Given the description of an element on the screen output the (x, y) to click on. 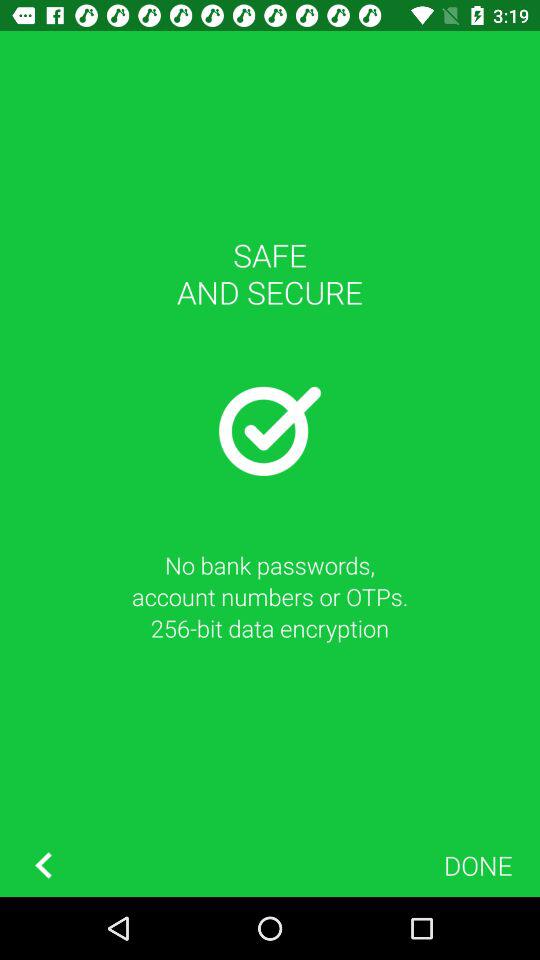
flip to done (478, 864)
